Given the description of an element on the screen output the (x, y) to click on. 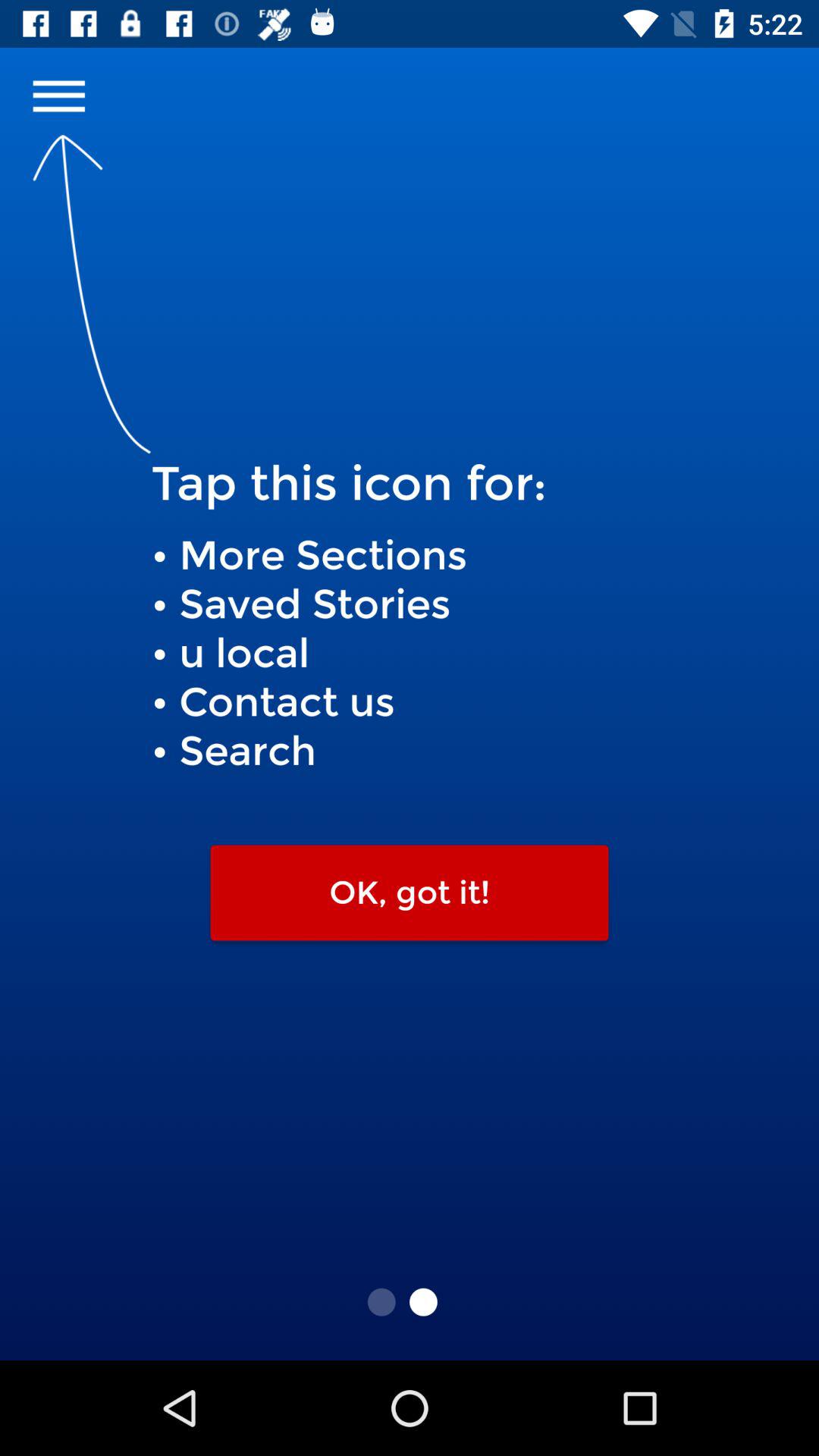
select the ok, got it! (409, 892)
